Given the description of an element on the screen output the (x, y) to click on. 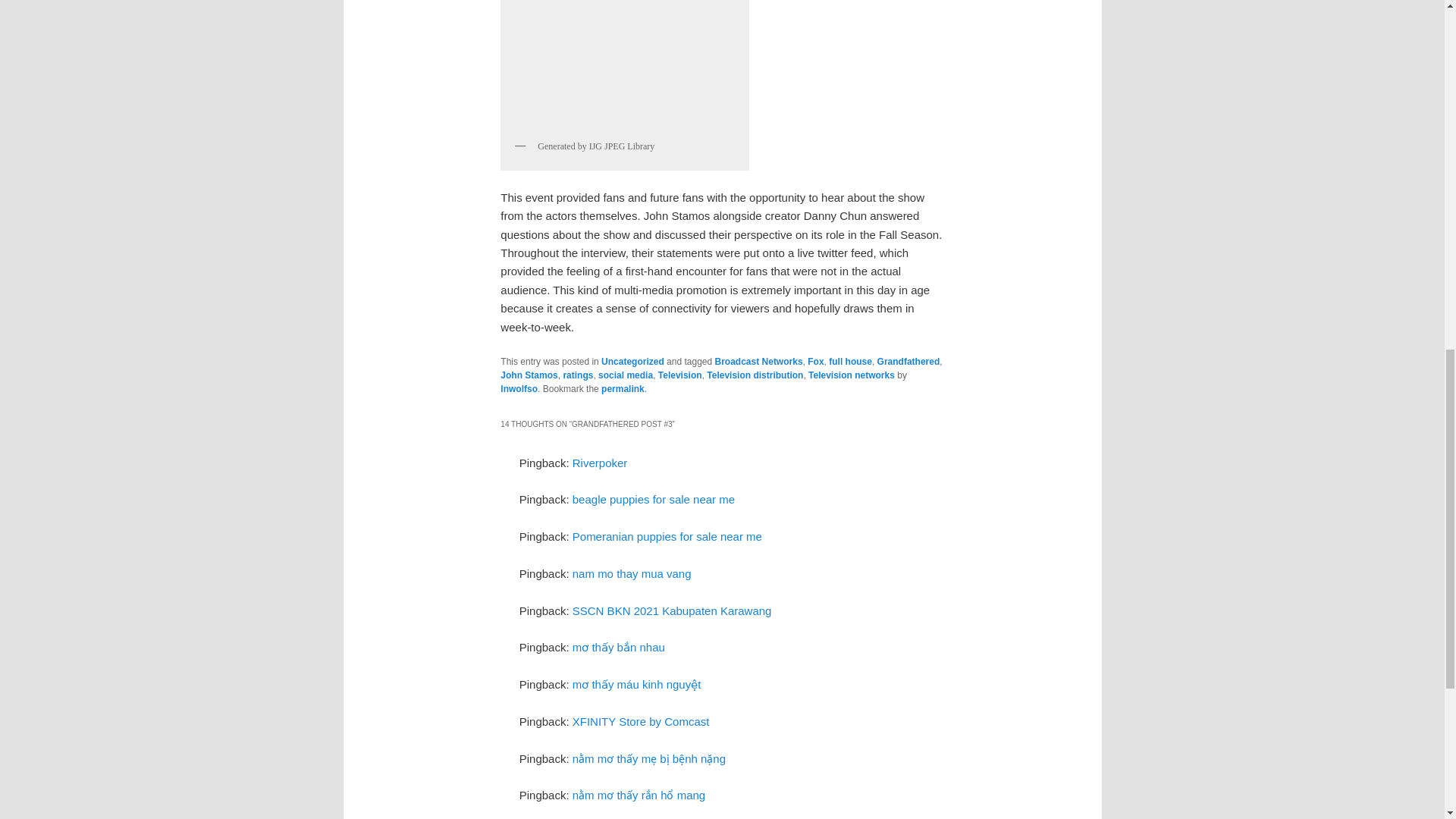
full house (850, 361)
Uncategorized (632, 361)
Television networks (851, 375)
John Stamos (528, 375)
Television (679, 375)
Television distribution (754, 375)
Fox (816, 361)
social media (625, 375)
permalink (623, 388)
Grandfathered (908, 361)
Broadcast Networks (758, 361)
lnwolfso (518, 388)
ratings (577, 375)
